Given the description of an element on the screen output the (x, y) to click on. 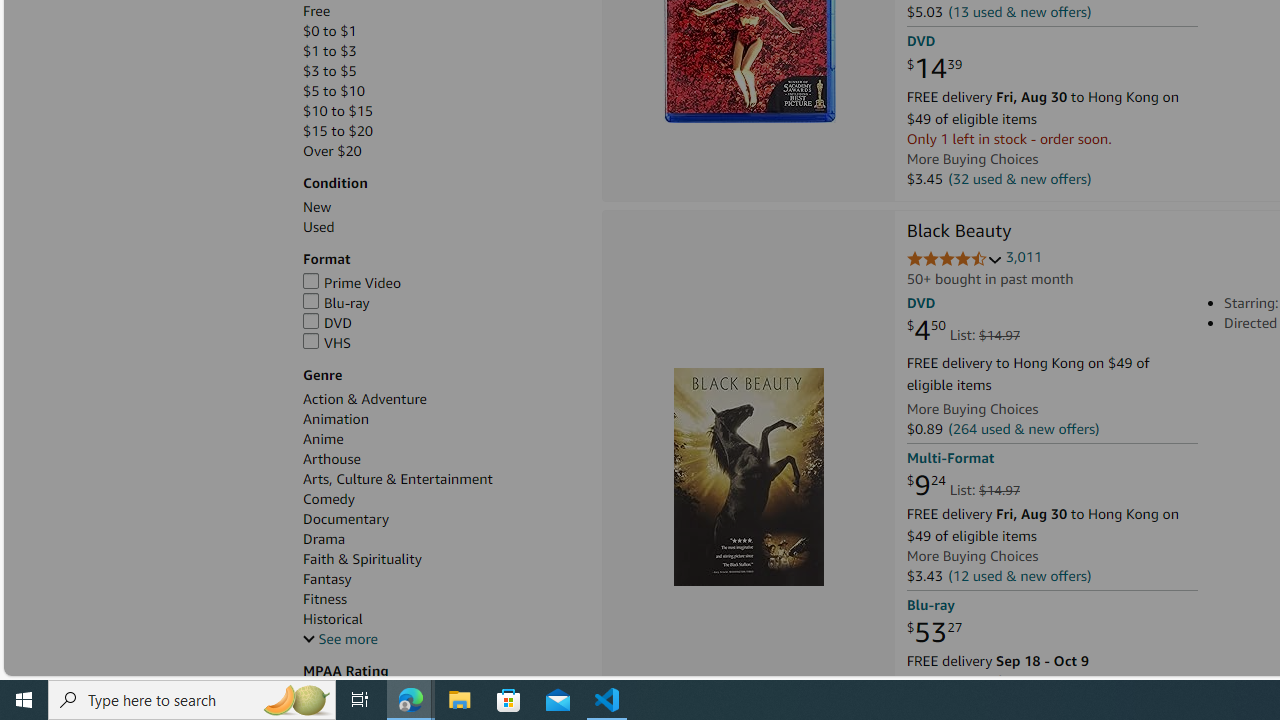
Faith & Spirituality (362, 559)
(32 used & new offers) (1019, 178)
$4.50 List: $14.97 (963, 331)
$10 to $15 (338, 111)
Fitness (325, 599)
$15 to $20 (442, 131)
Free (317, 11)
Arts, Culture & Entertainment (397, 479)
$15 to $20 (338, 131)
Blu-ray (336, 303)
Over $20 (332, 151)
Action & Adventure (365, 399)
$3 to $5 (442, 71)
Fitness (442, 599)
Free (442, 11)
